Given the description of an element on the screen output the (x, y) to click on. 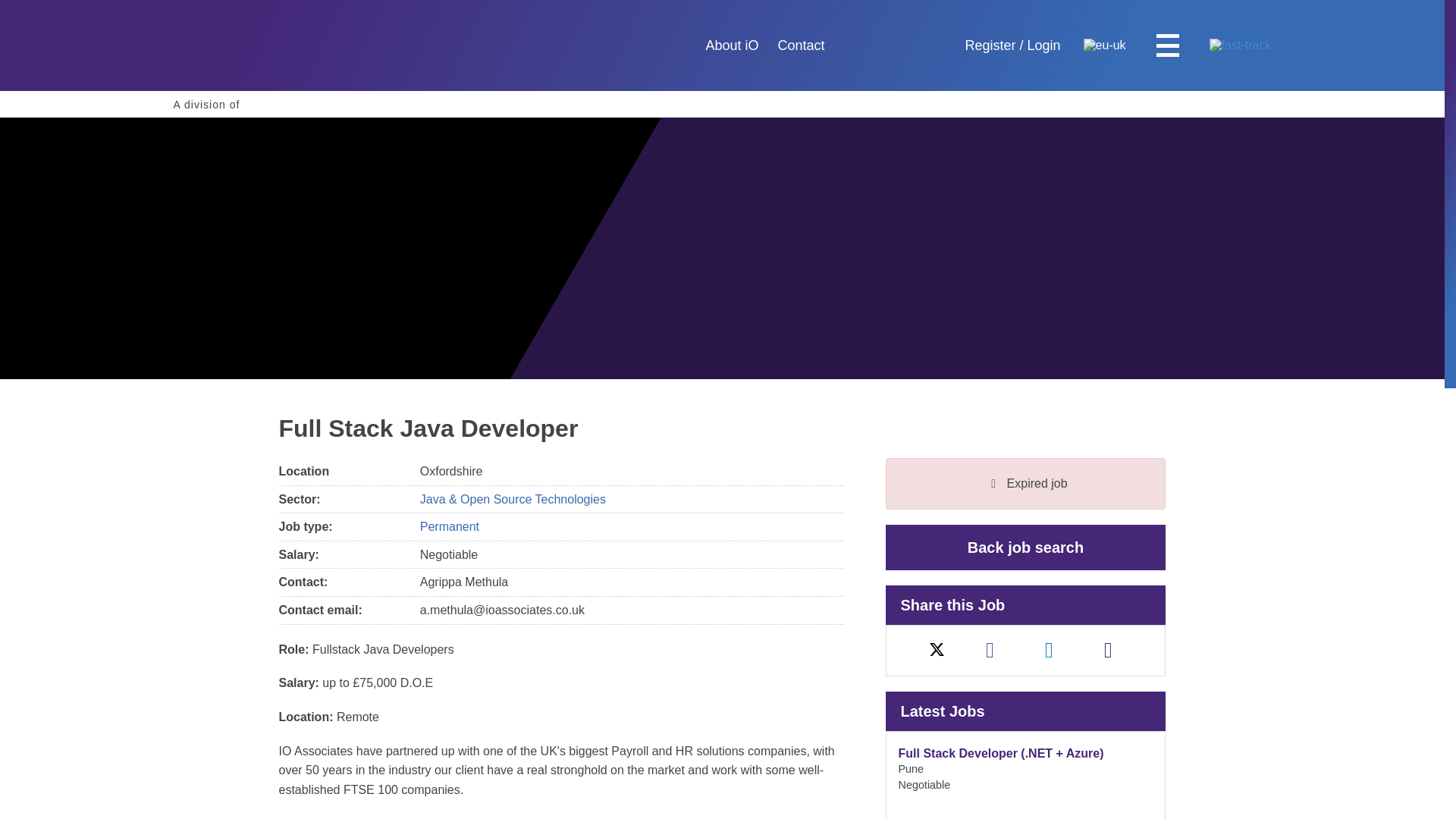
IO Associates (233, 45)
Permanent (237, 103)
Back job search (449, 526)
Go to the Homepage (1025, 547)
Email (233, 45)
LinkedIn (1108, 650)
About iO (1048, 650)
Contact (731, 45)
Register (800, 45)
